Given the description of an element on the screen output the (x, y) to click on. 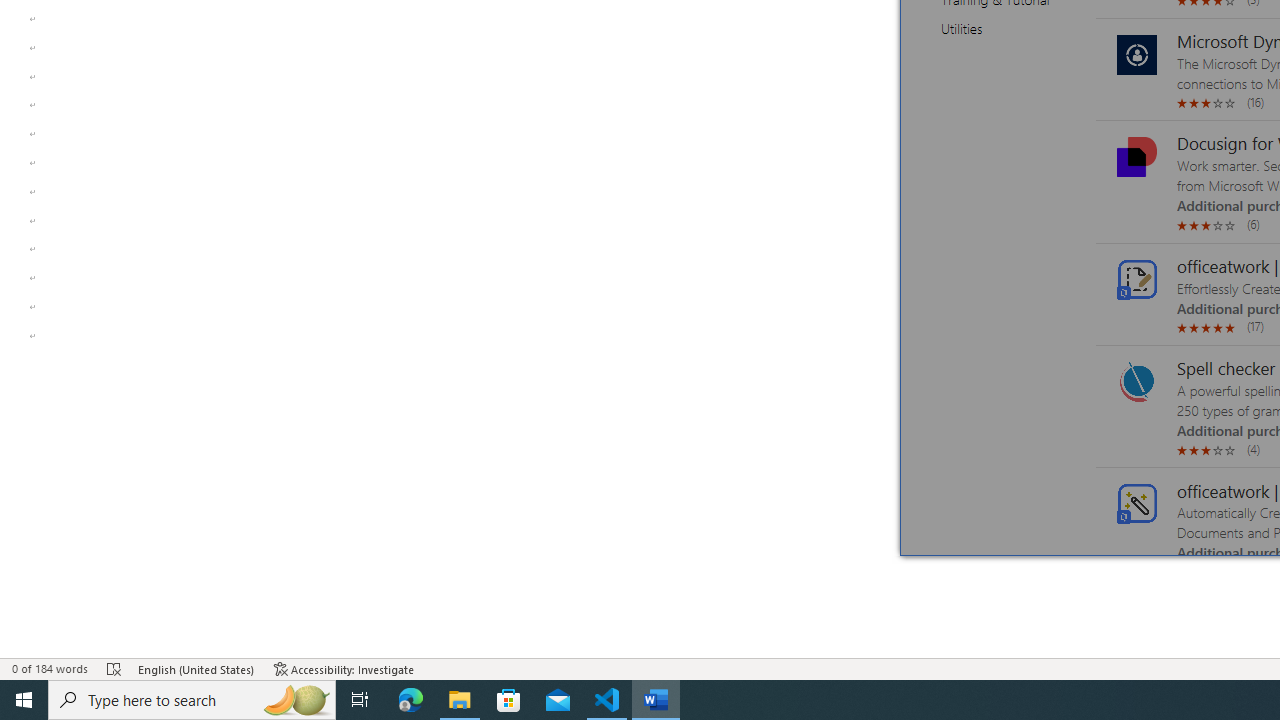
Word - 1 running window (656, 699)
File Explorer - 1 running window (460, 699)
Microsoft Edge (411, 699)
Word Count 0 of 184 words (49, 668)
